Given the description of an element on the screen output the (x, y) to click on. 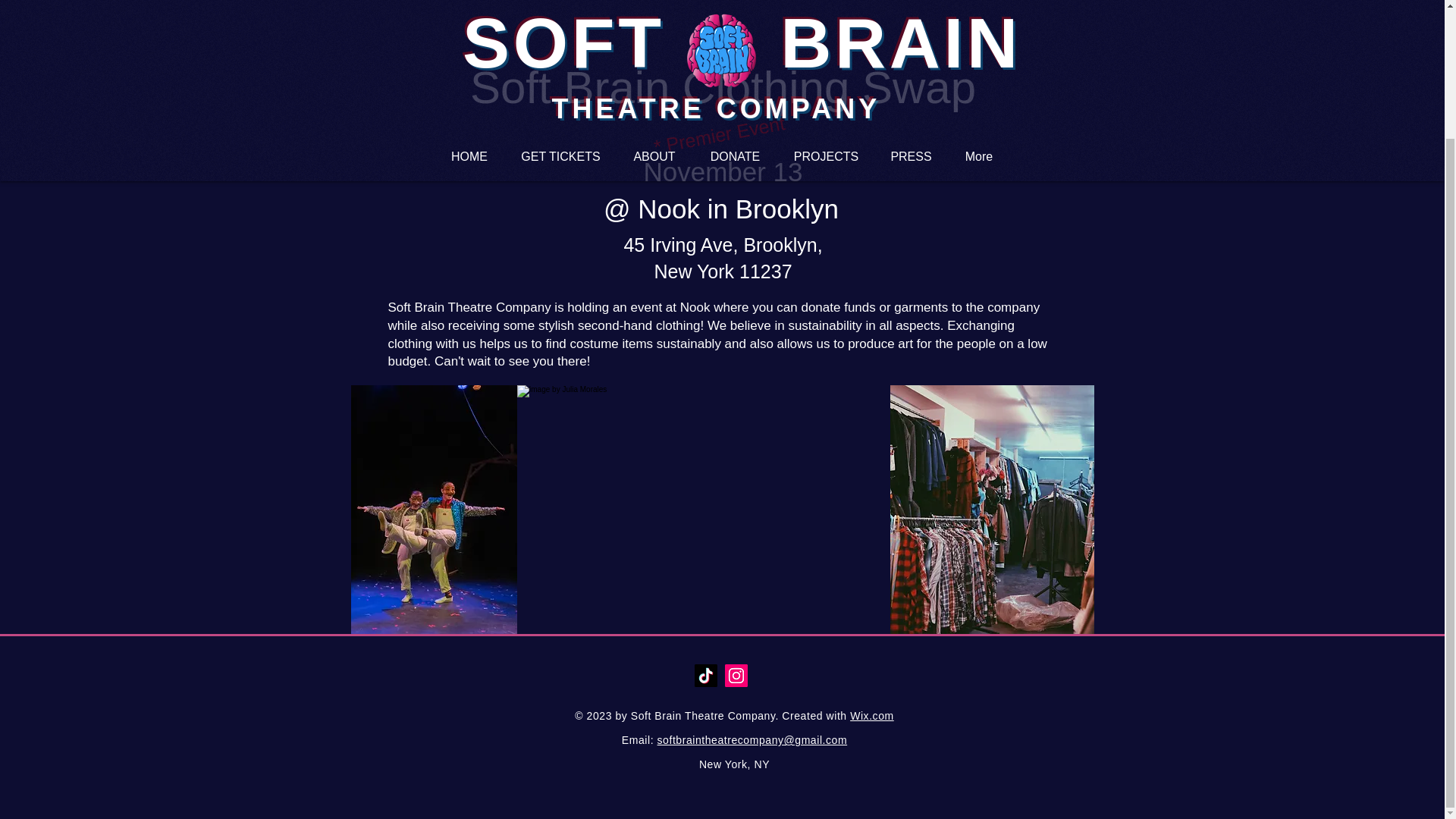
HOME (469, 3)
Wix.com (871, 715)
PROJECTS (826, 3)
ABOUT (654, 3)
GET TICKETS (560, 3)
PRESS (911, 3)
DONATE (735, 3)
